Given the description of an element on the screen output the (x, y) to click on. 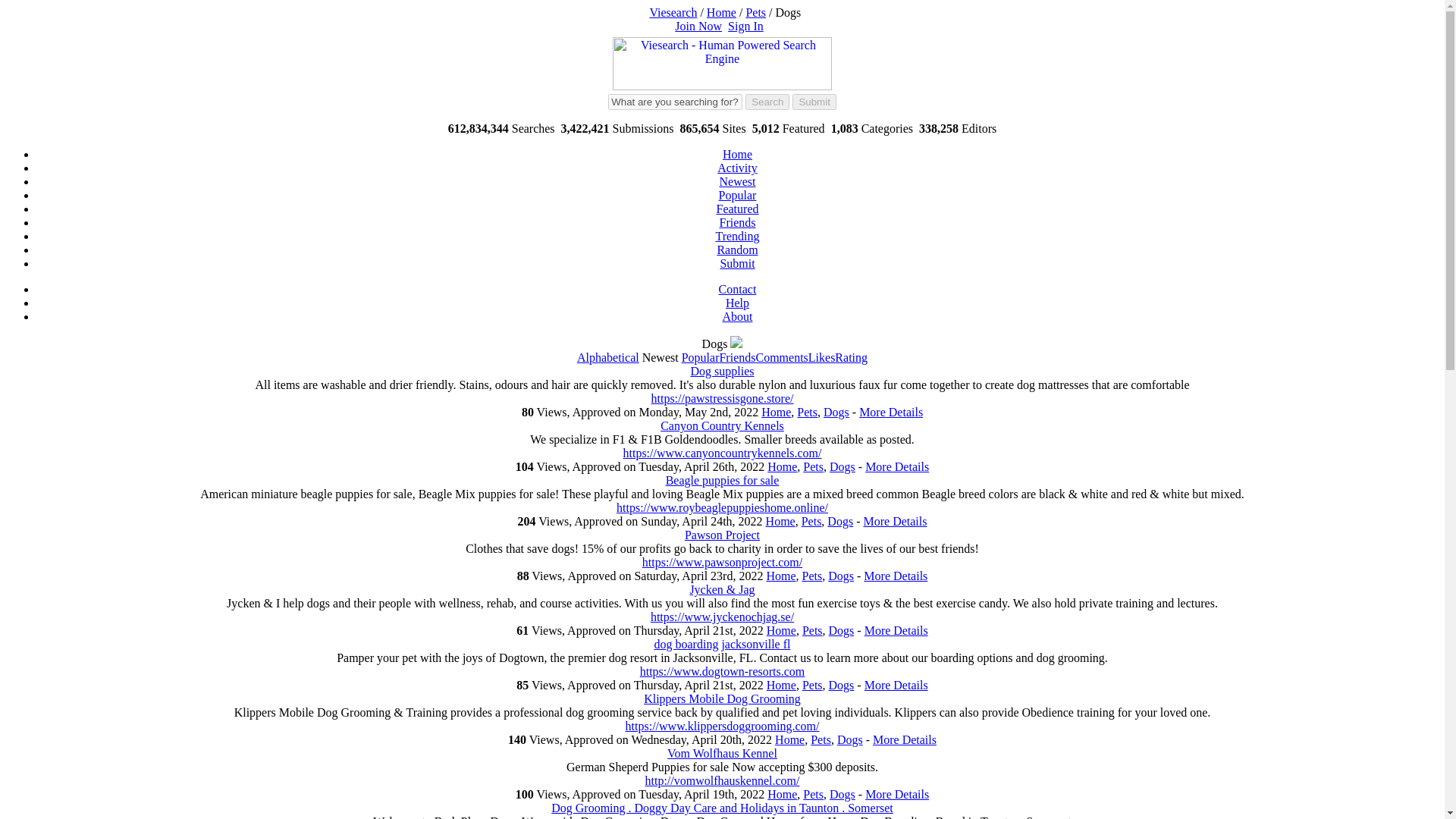
Dogs (836, 411)
Submit (736, 263)
What are you searching for? (675, 101)
Activity (737, 167)
Trending search keywords on Viesearch (736, 236)
The top 50 longest featured sites in Viesearch (737, 208)
Likes (821, 357)
Create a Username (698, 25)
Sign In (745, 25)
Trending (736, 236)
